Given the description of an element on the screen output the (x, y) to click on. 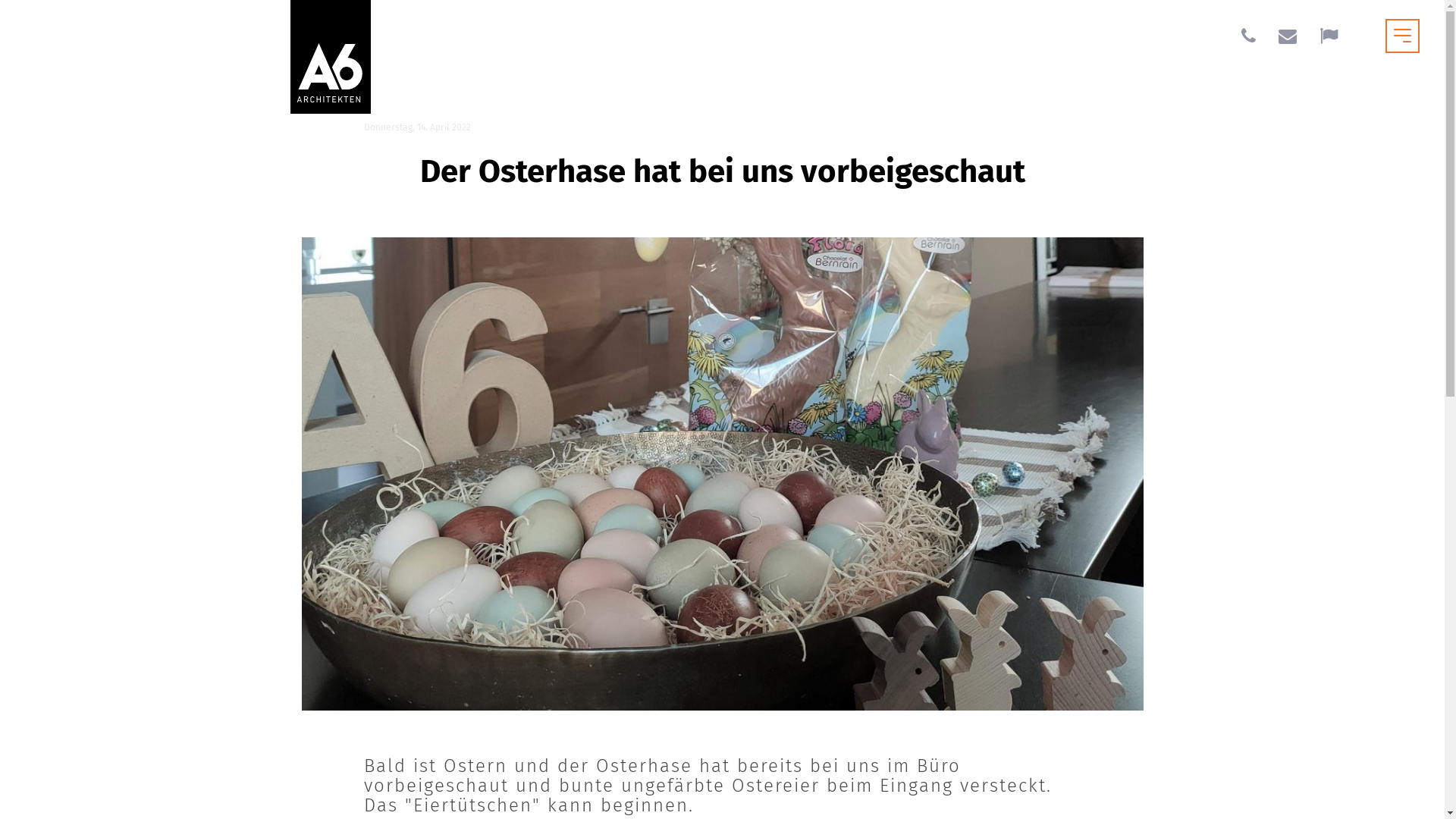
Startseite Element type: hover (330, 56)
Menu Element type: hover (1402, 35)
E-Mail senden Element type: hover (1287, 38)
041 928 19 79 Element type: hover (1248, 38)
Unterdorf 12, 6018 Buttisholz Element type: hover (1328, 38)
